Given the description of an element on the screen output the (x, y) to click on. 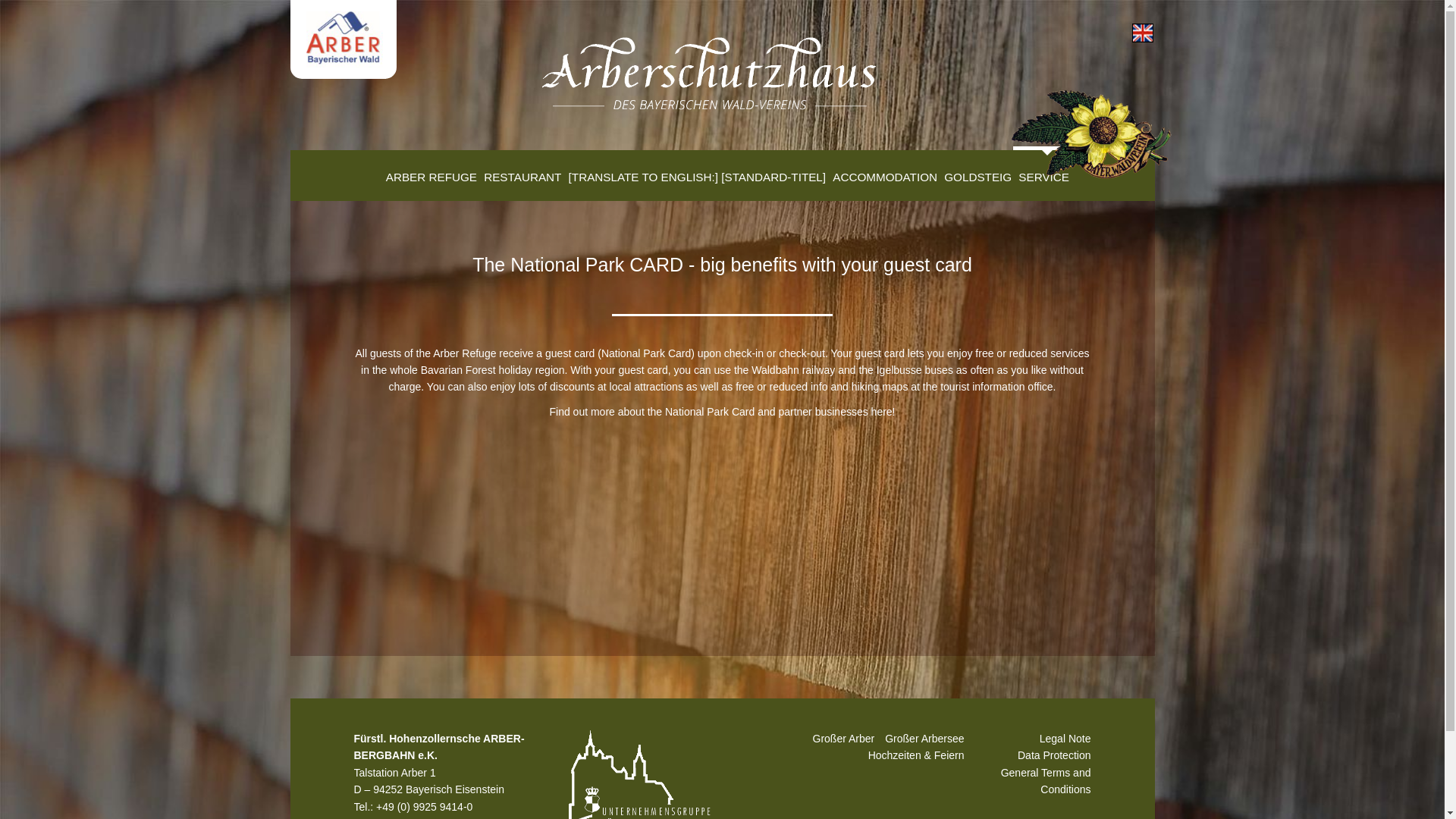
ACCOMMODATION (883, 173)
Legal Note (1064, 738)
SERVICE (1041, 173)
GOLDSTEIG (976, 173)
Data Protection (1053, 755)
ARBER REFUGE (428, 173)
General Terms and Conditions (1045, 780)
Legal Note (1064, 738)
General Terms and Conditions (1045, 780)
Data Protection (1053, 755)
RESTAURANT (520, 173)
